Given the description of an element on the screen output the (x, y) to click on. 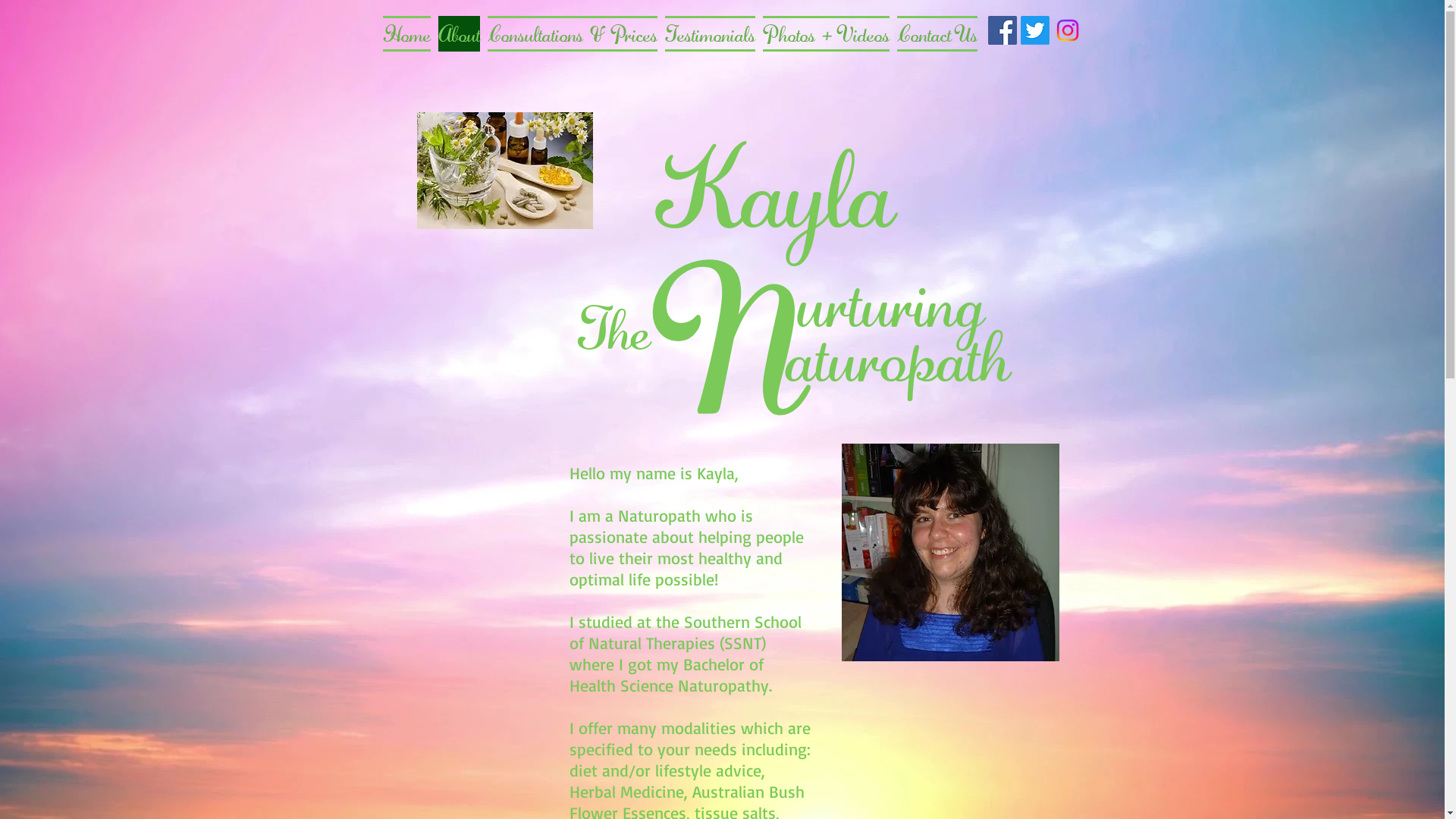
Photos + Videos Element type: text (825, 29)
Contact Us Element type: text (935, 29)
Testimonials Element type: text (710, 29)
Naturopath1.jpg Element type: hover (505, 170)
Consultations & Prices Element type: text (572, 29)
Home Element type: text (406, 29)
About Element type: text (458, 29)
